Given the description of an element on the screen output the (x, y) to click on. 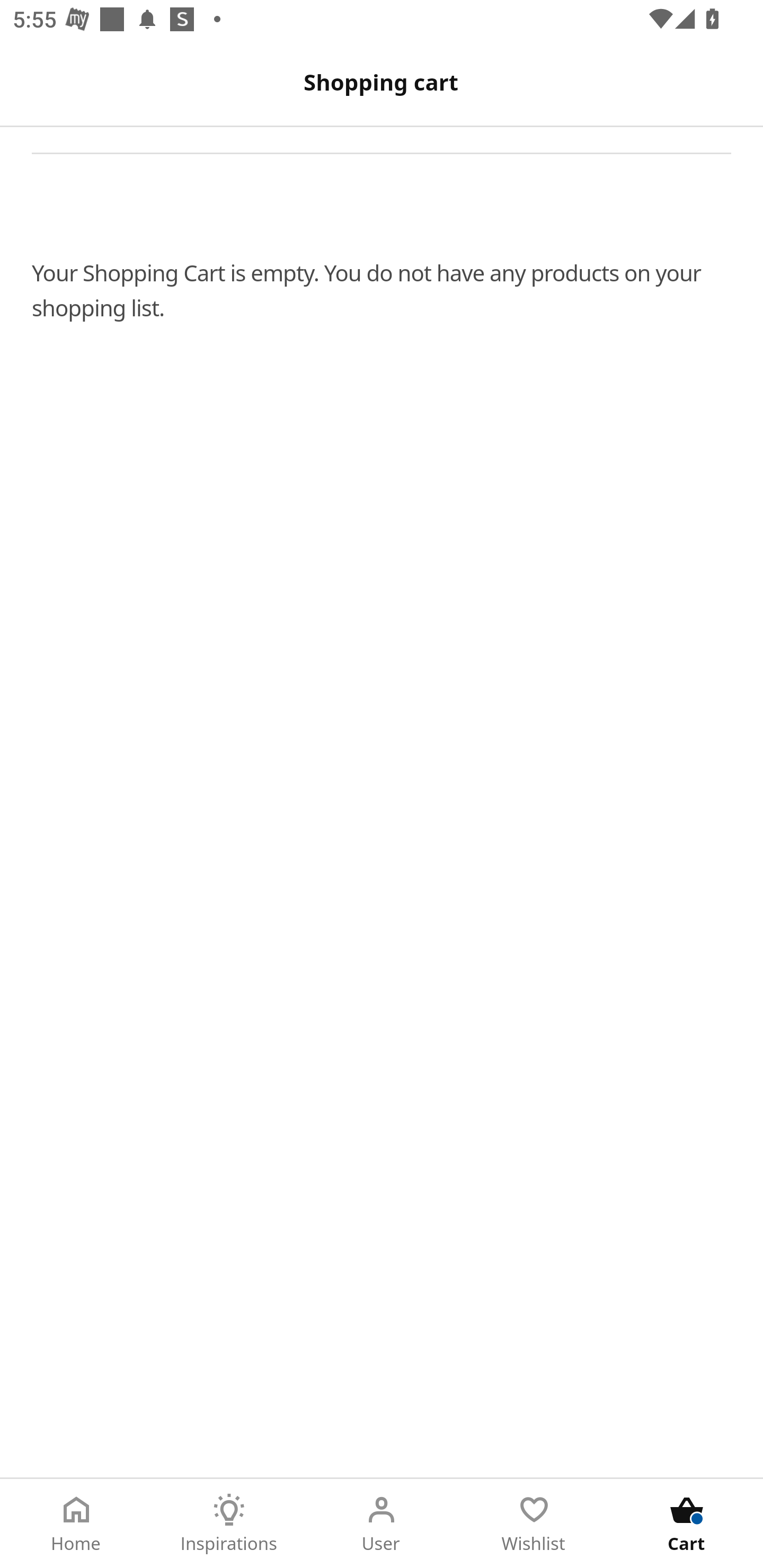
Home
Tab 1 of 5 (76, 1522)
Inspirations
Tab 2 of 5 (228, 1522)
User
Tab 3 of 5 (381, 1522)
Wishlist
Tab 4 of 5 (533, 1522)
Cart
Tab 5 of 5 (686, 1522)
